Given the description of an element on the screen output the (x, y) to click on. 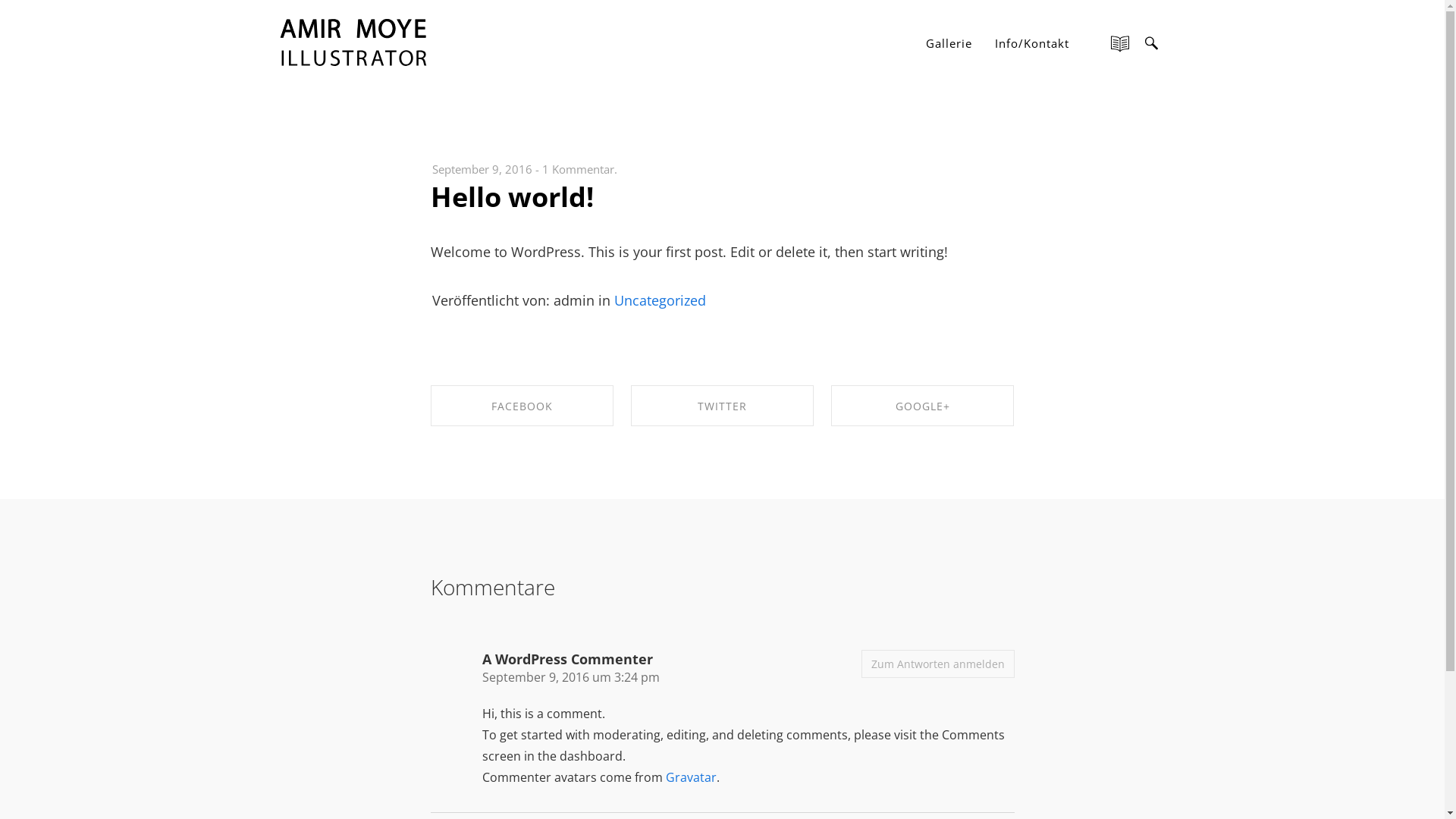
Illustration Amir Moye Element type: hover (354, 41)
1 Kommentar. Element type: text (578, 168)
Gallerie Element type: text (948, 43)
Info/Kontakt Element type: text (1030, 43)
September 9, 2016 Element type: text (482, 168)
Zum Antworten anmelden Element type: text (937, 663)
Hello world! Element type: text (511, 196)
Uncategorized Element type: text (660, 300)
Gravatar Element type: text (690, 776)
A WordPress Commenter Element type: text (567, 658)
